Given the description of an element on the screen output the (x, y) to click on. 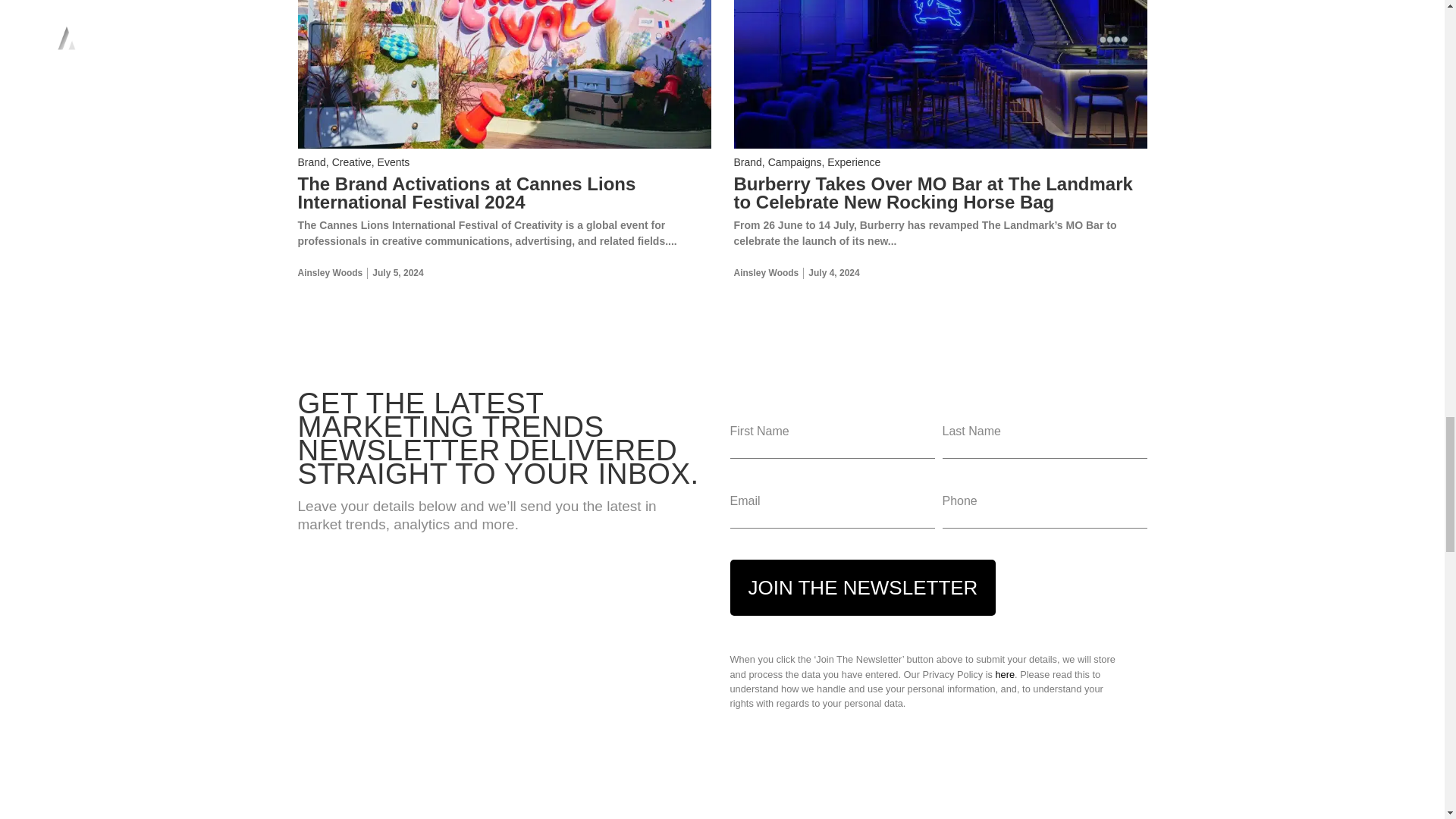
Brand (310, 162)
Ainsley Woods (329, 273)
Brand (747, 162)
Campaigns (795, 162)
Ainsley Woods (766, 273)
Events (393, 162)
Experience (853, 162)
Creative (351, 162)
